Given the description of an element on the screen output the (x, y) to click on. 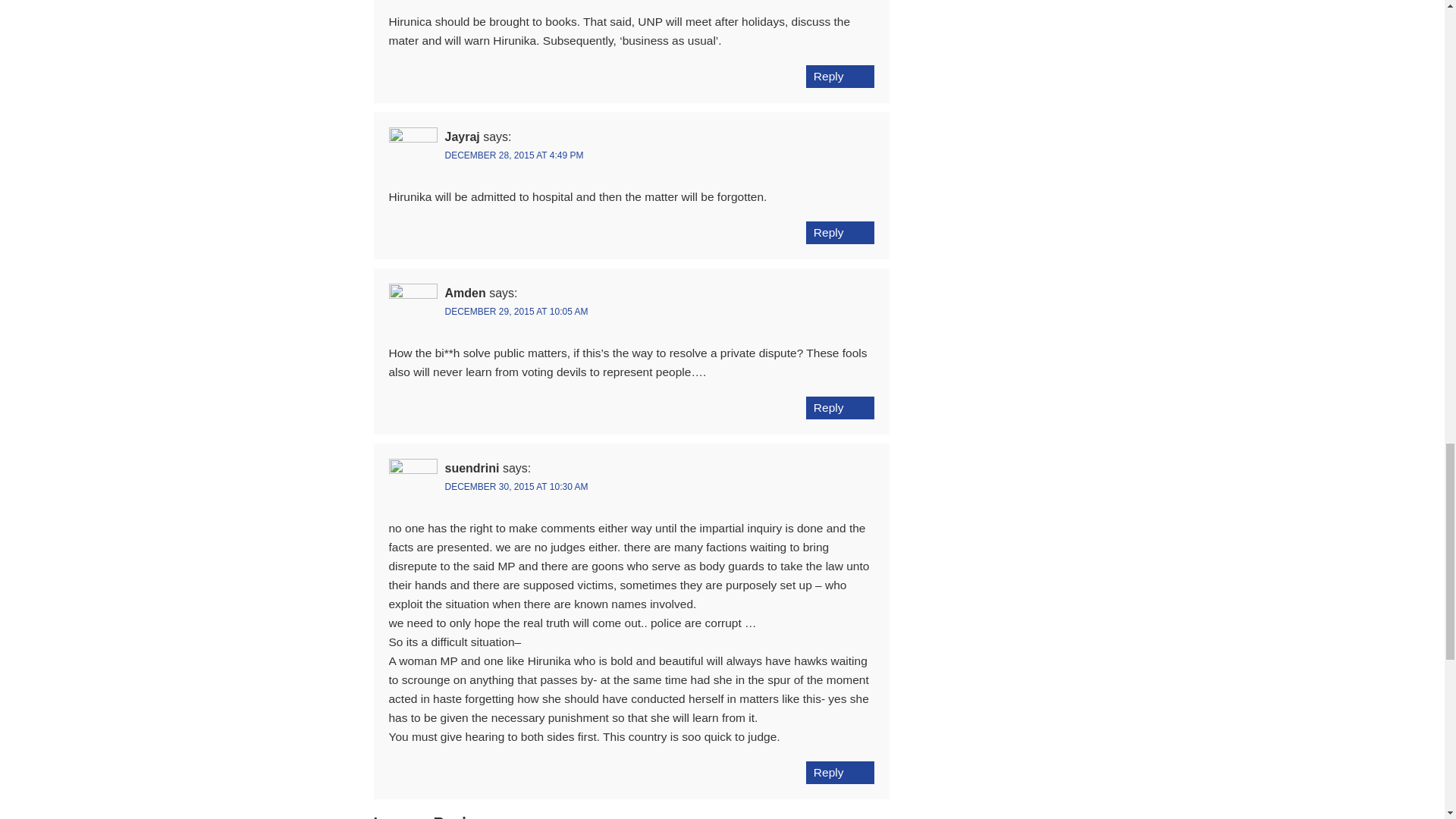
DECEMBER 28, 2015 AT 4:49 PM (513, 154)
DECEMBER 30, 2015 AT 10:30 AM (516, 486)
DECEMBER 29, 2015 AT 10:05 AM (516, 311)
